Given the description of an element on the screen output the (x, y) to click on. 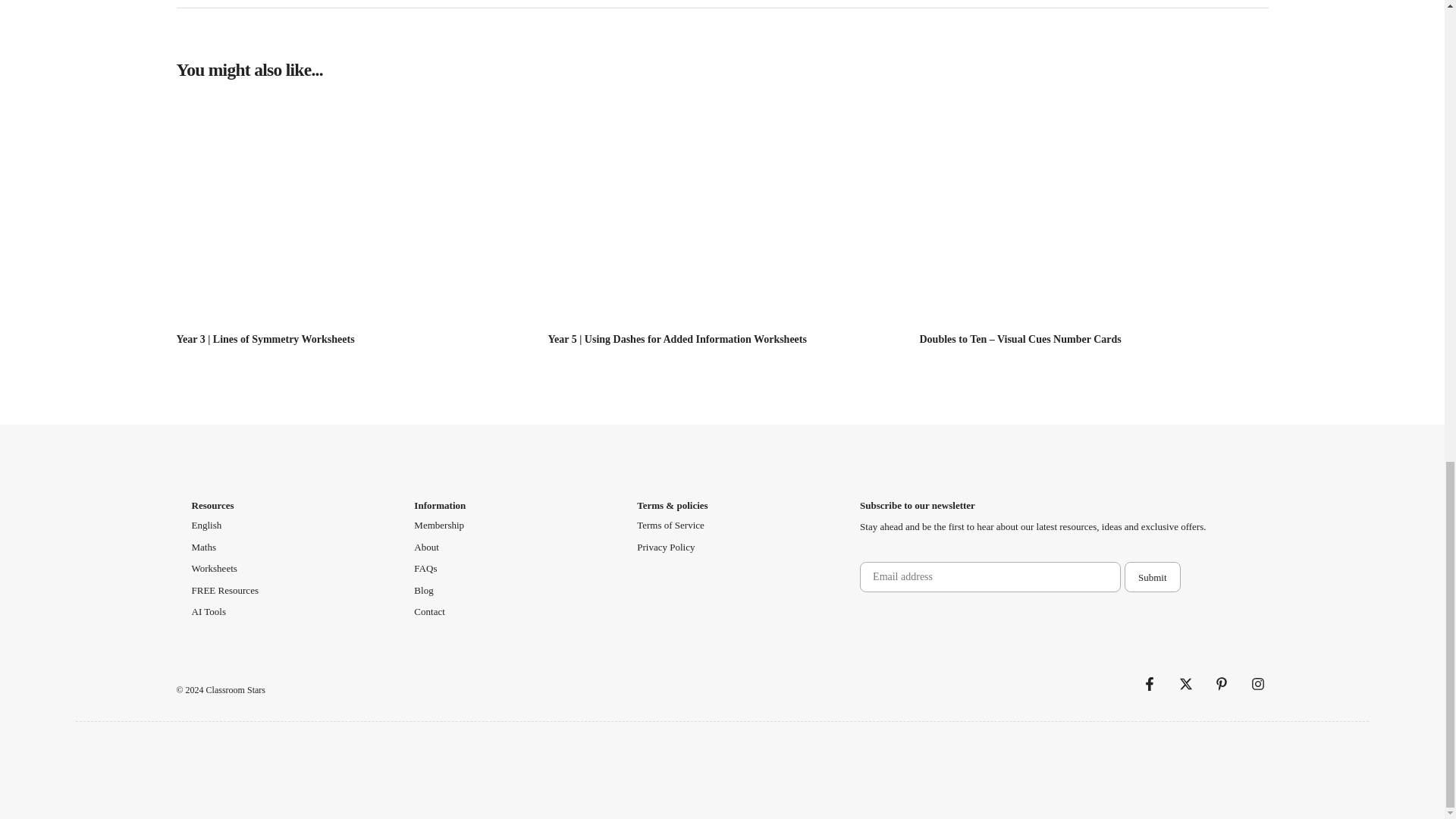
English (205, 525)
Worksheets (212, 568)
Maths (202, 547)
